Given the description of an element on the screen output the (x, y) to click on. 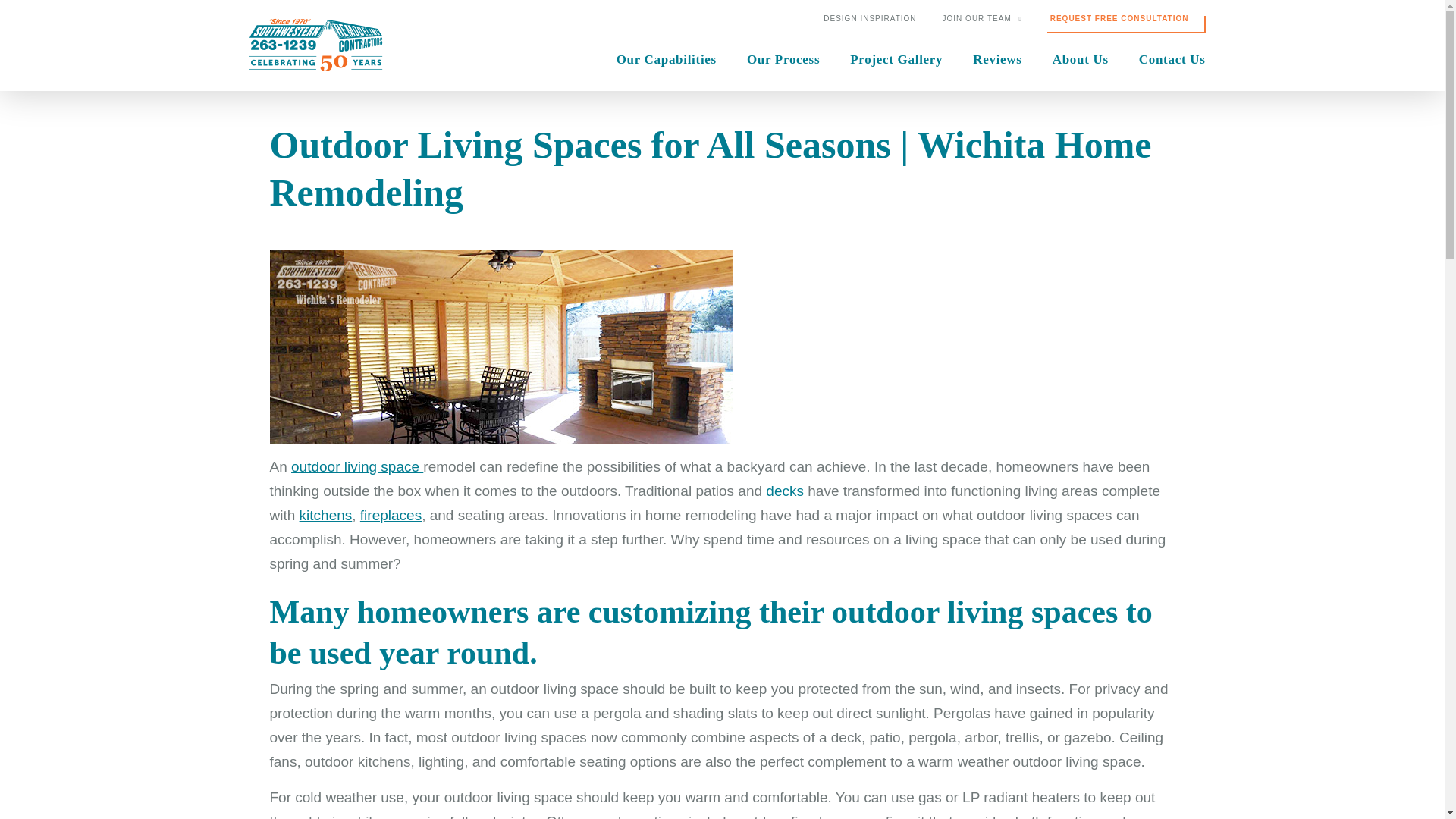
Our Process (782, 60)
decks (786, 490)
DESIGN INSPIRATION (869, 19)
outdoor living space (357, 466)
About Us (1080, 60)
Reviews (997, 60)
kitchens (325, 514)
REQUEST FREE CONSULTATION (1119, 18)
Project Gallery (896, 60)
Our Capabilities (665, 60)
